Given the description of an element on the screen output the (x, y) to click on. 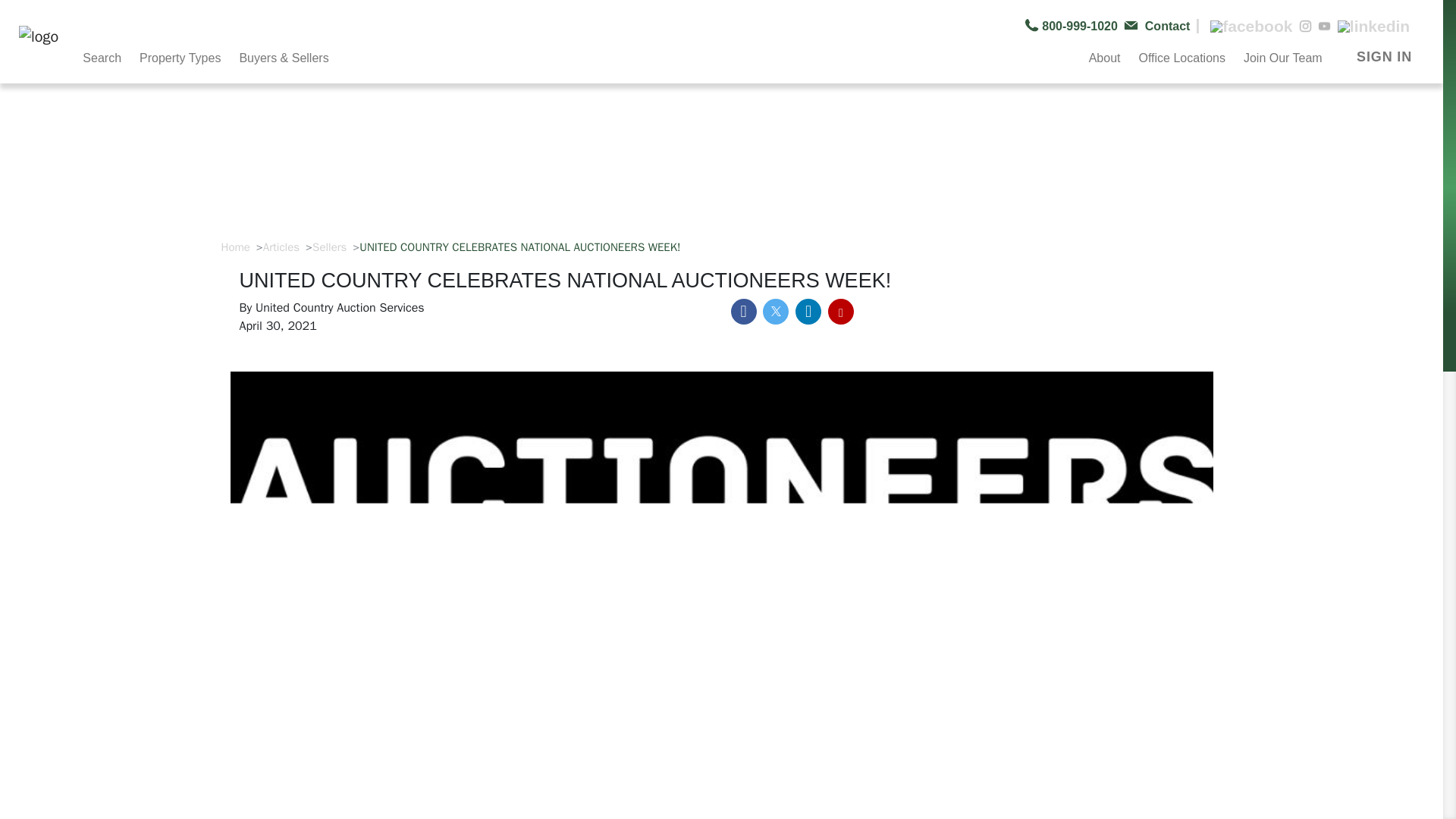
800-999-1020 (1074, 25)
Search (105, 56)
Property Types (182, 56)
